Given the description of an element on the screen output the (x, y) to click on. 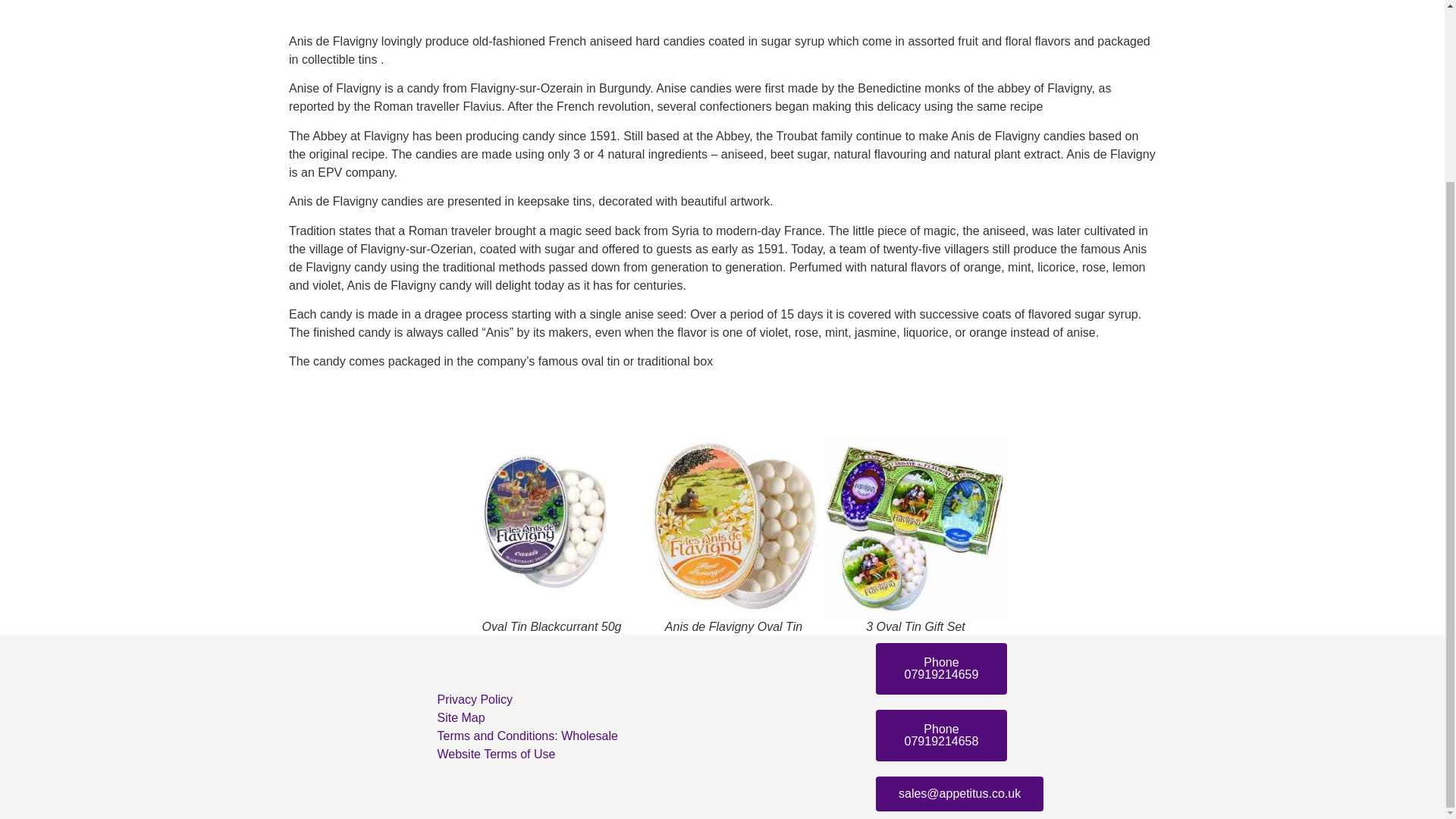
Site Map (540, 718)
Phone 07919214659 (941, 668)
Terms and Conditions: Wholesale (540, 736)
Privacy Policy (540, 700)
Oval Tin Blackcurrant 50g (552, 527)
Phone 07919214658 (941, 735)
Website Terms of Use (540, 754)
Anis-de-Flavigny-Oval-Tin-Gift-Set-Violet-Anise-Mint-3-x-50g (916, 527)
Anis-de-Flavigny-Oval-Tin-Orange-Blossom-50g (734, 527)
